Given the description of an element on the screen output the (x, y) to click on. 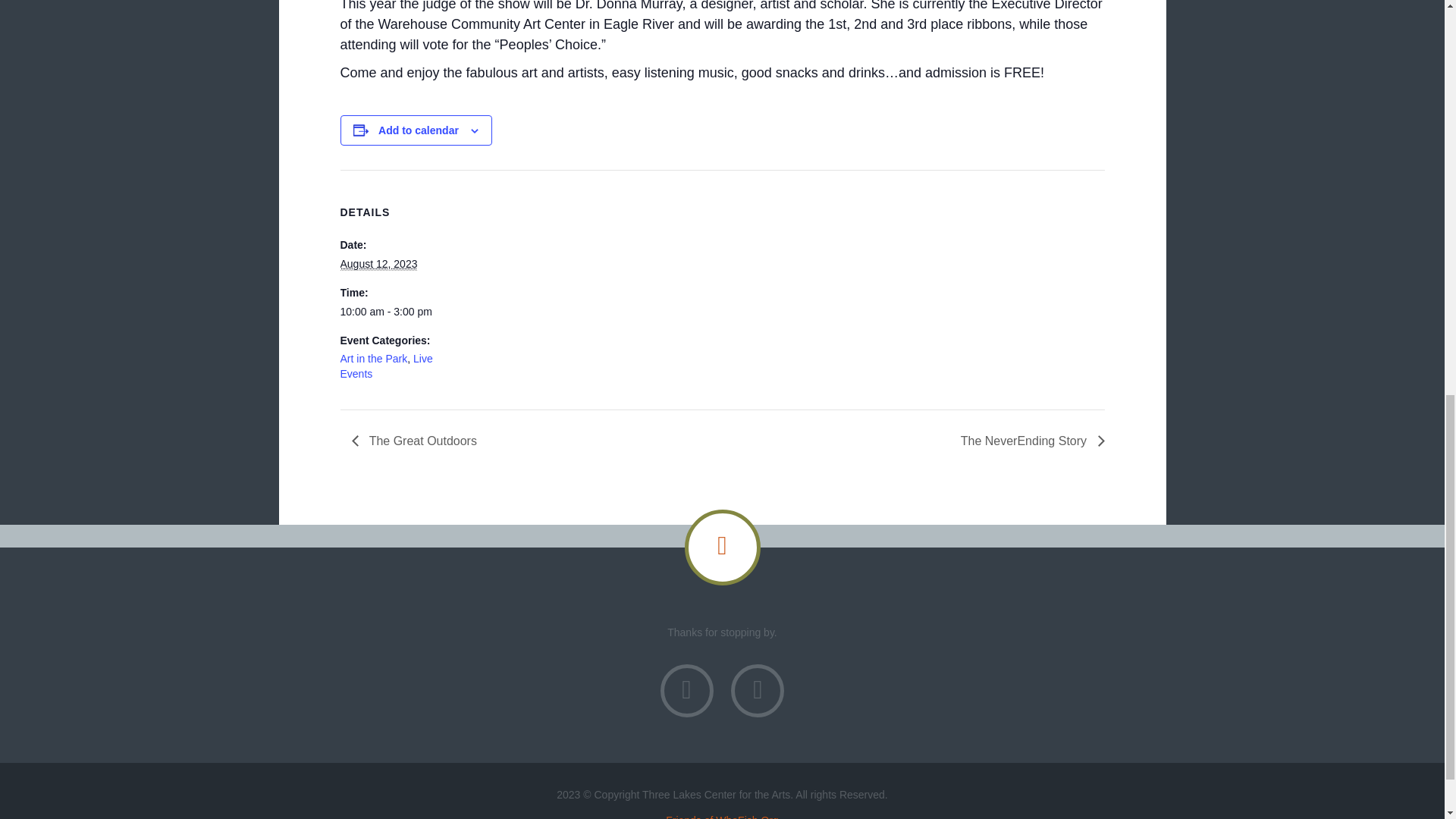
Live Events (385, 366)
The NeverEnding Story (1028, 440)
The Great Outdoors (418, 440)
Friends of WhoFish.Org (721, 816)
Add to calendar (418, 130)
Art in the Park (373, 358)
